Given the description of an element on the screen output the (x, y) to click on. 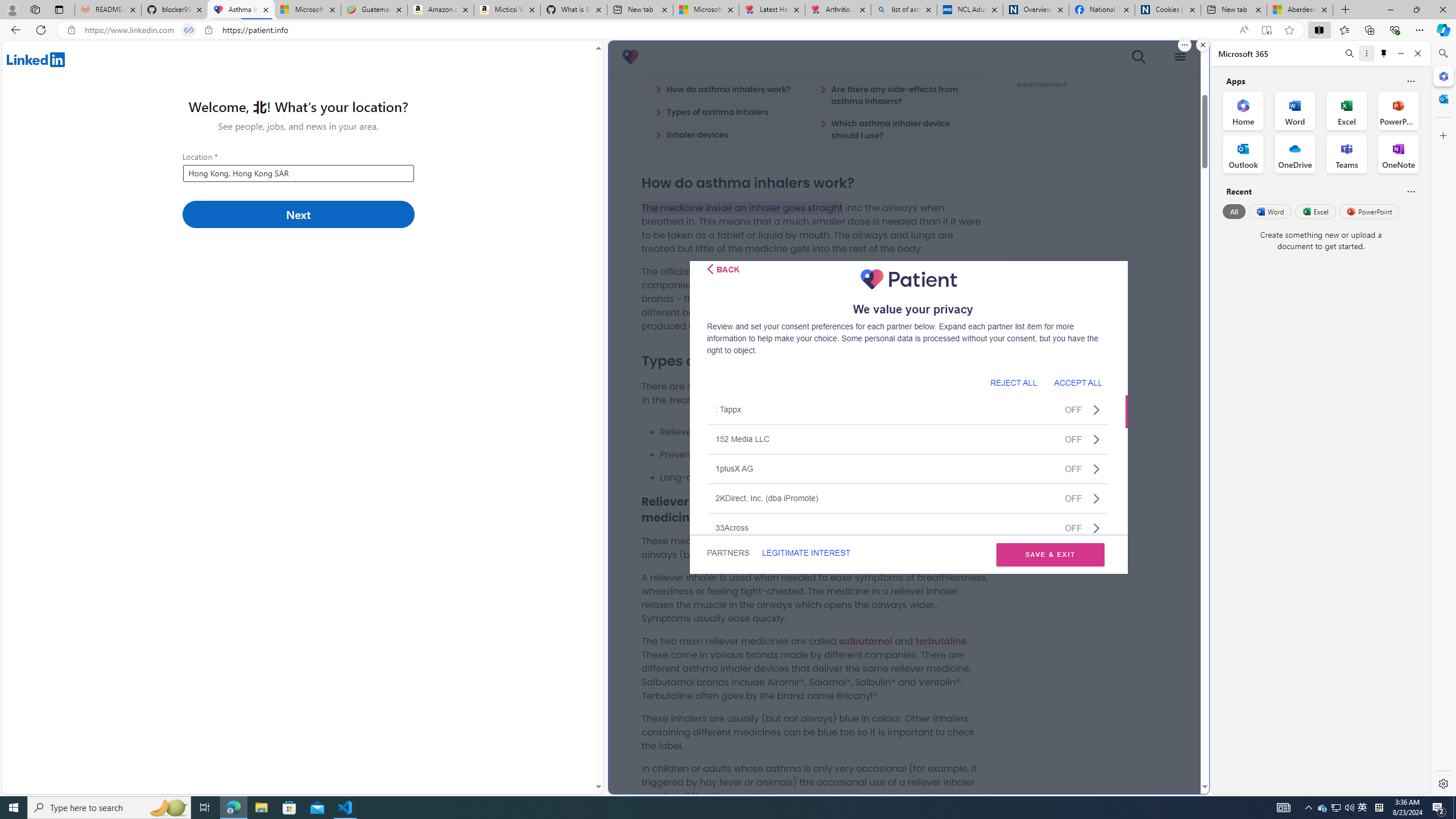
Preventers (steroid inhalers). (823, 454)
Types of asthma inhalers (711, 111)
Publisher Logo (908, 278)
Long-acting bronchodilators. (823, 477)
PowerPoint Office App (1398, 110)
Arthritis: Ask Health Professionals (838, 9)
Cookies | About | NICE (1167, 9)
Word Office App (1295, 110)
SAVE & EXIT (1050, 554)
PARTNERS (728, 552)
